Given the description of an element on the screen output the (x, y) to click on. 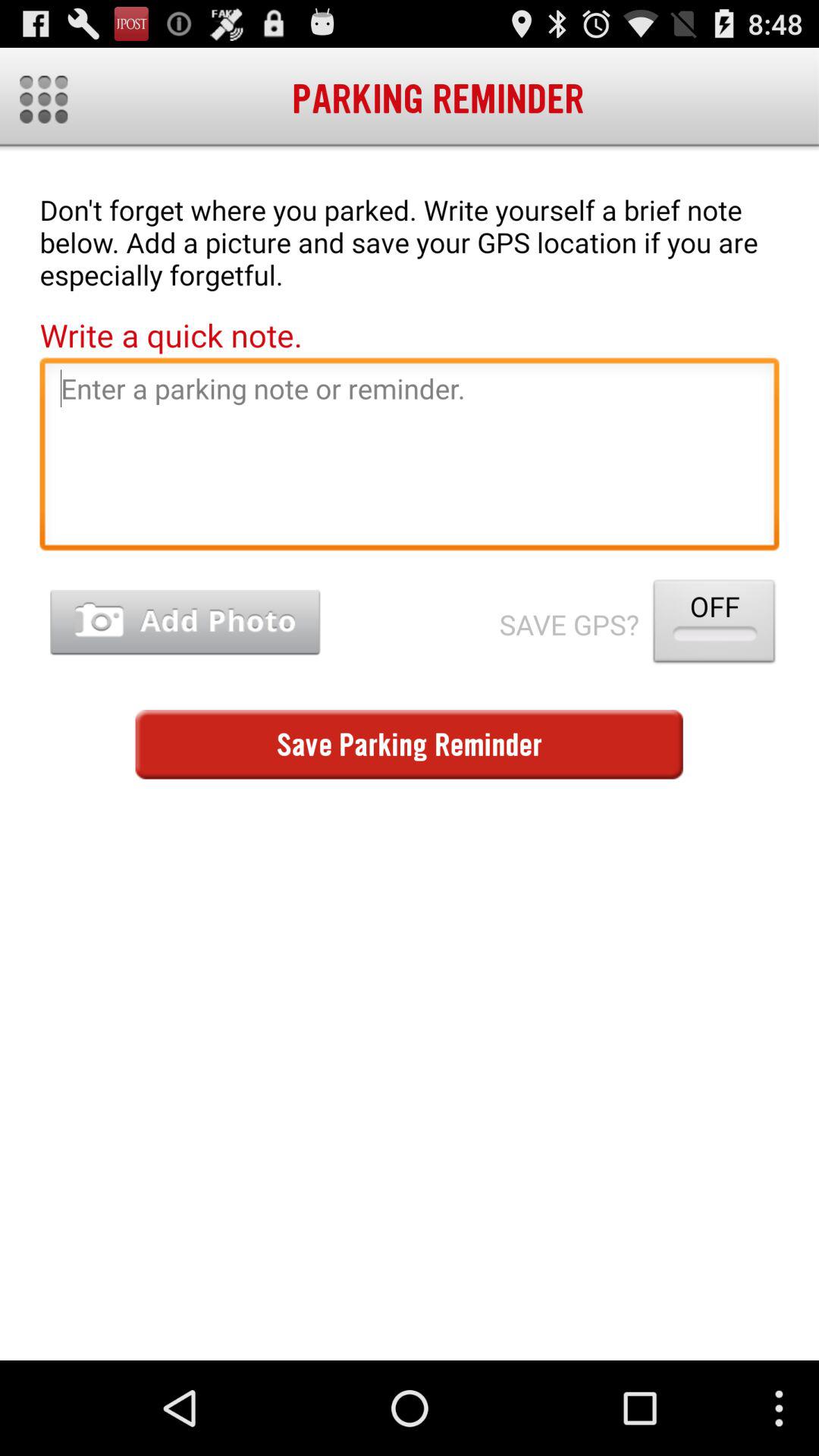
select item above the don t forget app (43, 99)
